Given the description of an element on the screen output the (x, y) to click on. 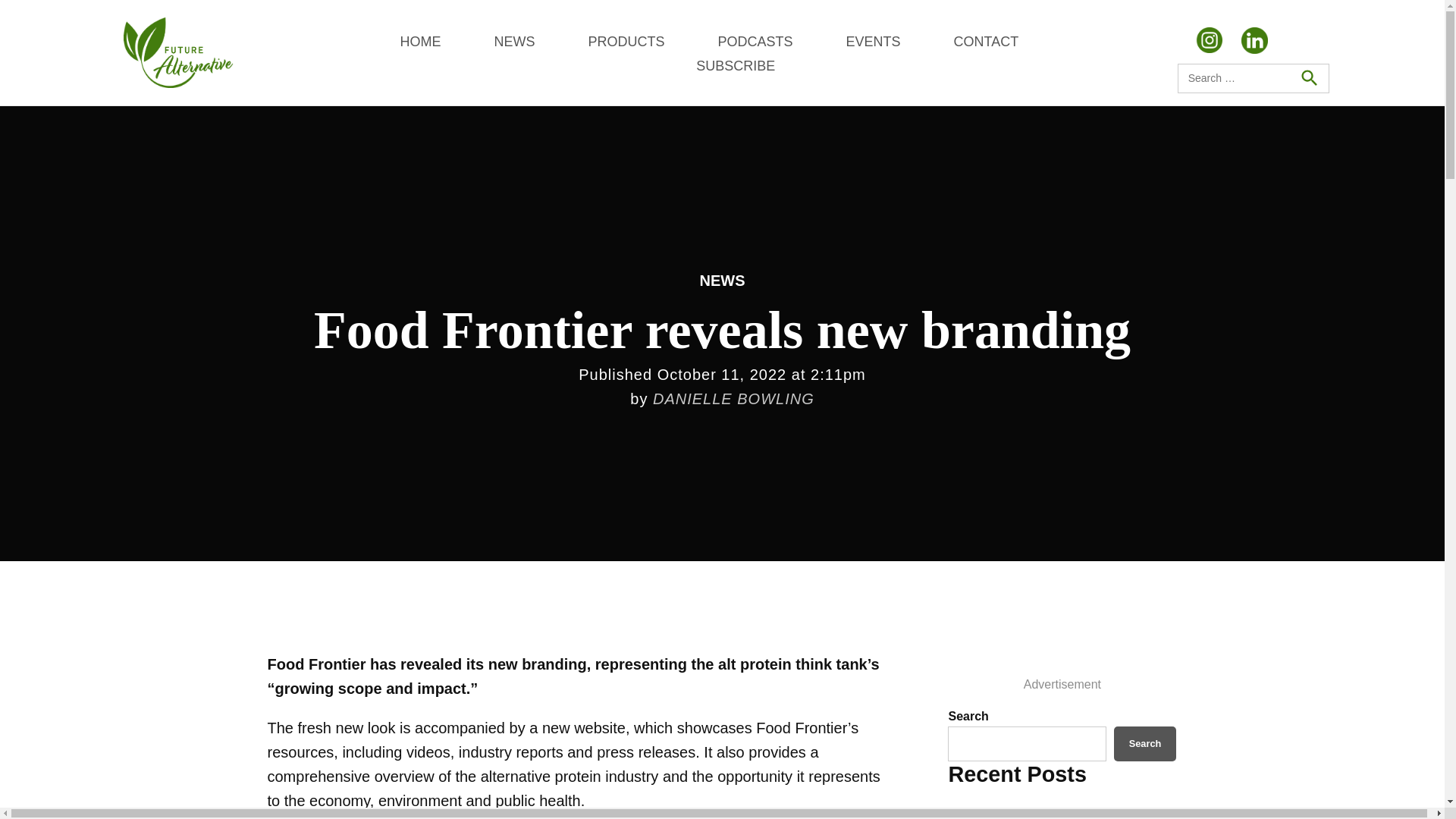
EVENTS (872, 40)
Search (1308, 77)
DANIELLE BOWLING (732, 398)
Search (1144, 743)
PRODUCTS (625, 40)
POSTS BY DANIELLE BOWLING (732, 398)
NEWS (721, 280)
HOME (419, 40)
NEWS (513, 40)
